Given the description of an element on the screen output the (x, y) to click on. 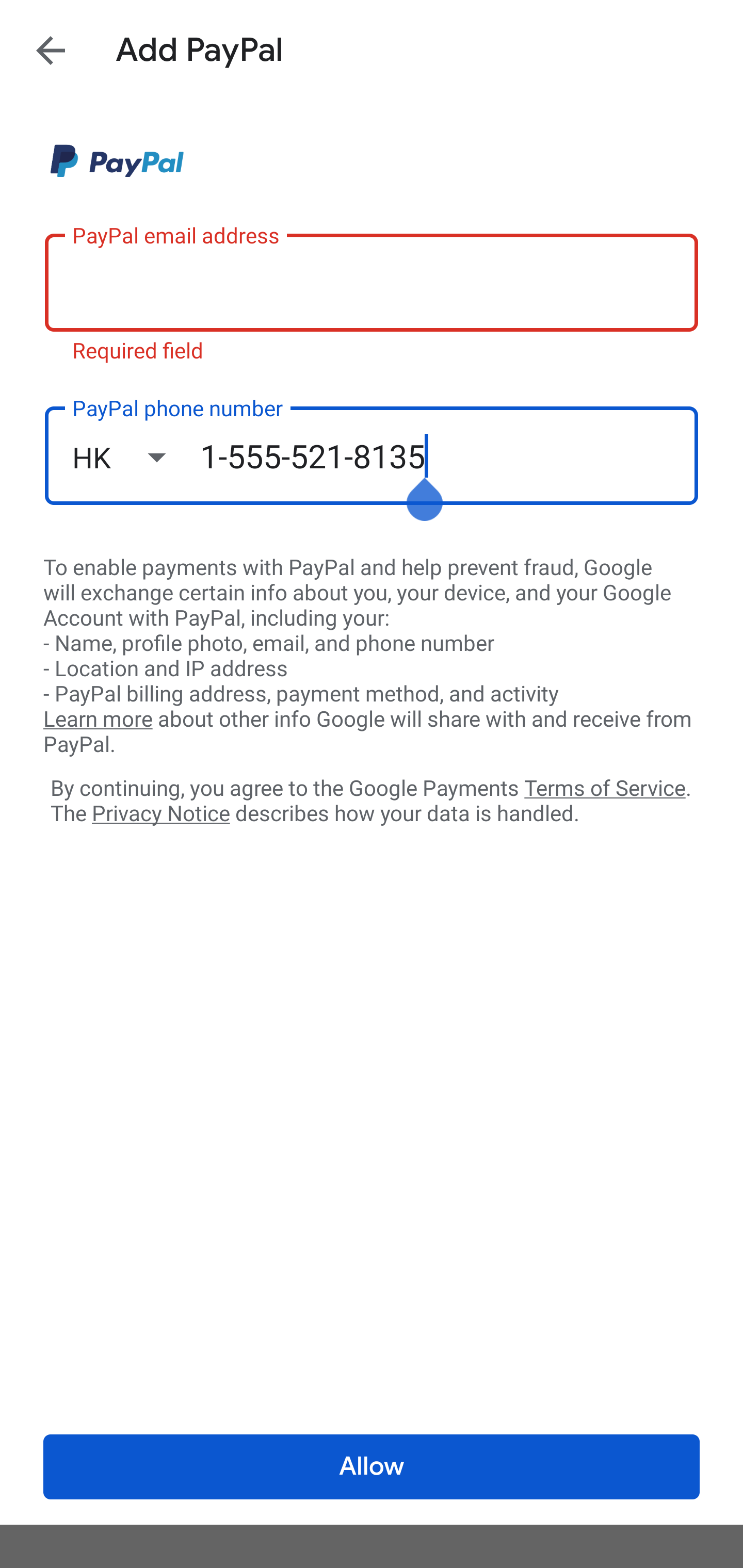
Navigate up (50, 50)
HK (135, 456)
Learn more (97, 719)
Terms of Service (604, 787)
Privacy Notice (160, 814)
Allow (371, 1466)
